Given the description of an element on the screen output the (x, y) to click on. 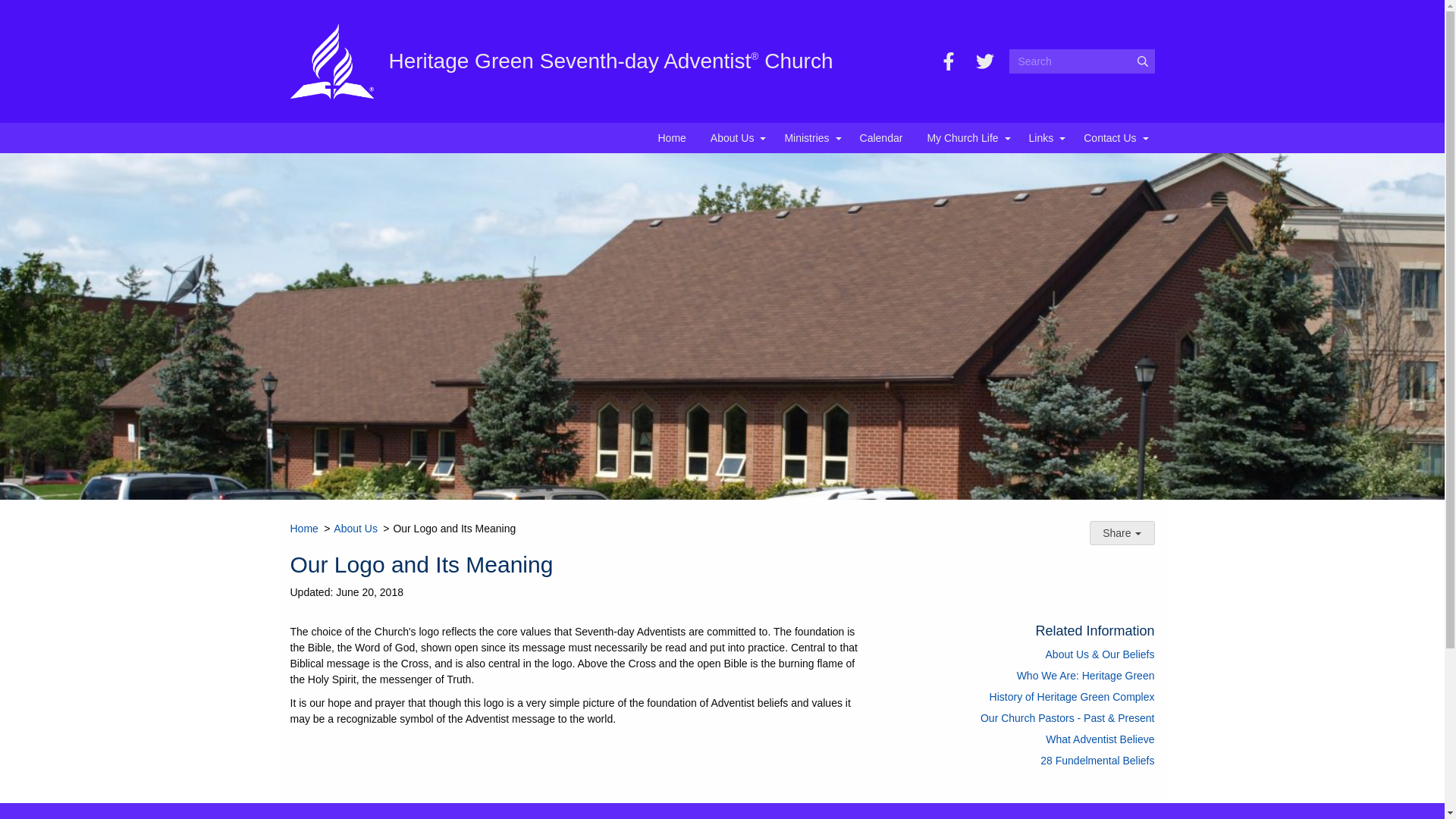
Contact Us (1112, 137)
About Us (735, 137)
About Us (355, 528)
Calendar (881, 137)
Home (672, 137)
Home (303, 528)
Share (1121, 532)
My Church Life (965, 137)
Links (1043, 137)
Ministries (809, 137)
